Given the description of an element on the screen output the (x, y) to click on. 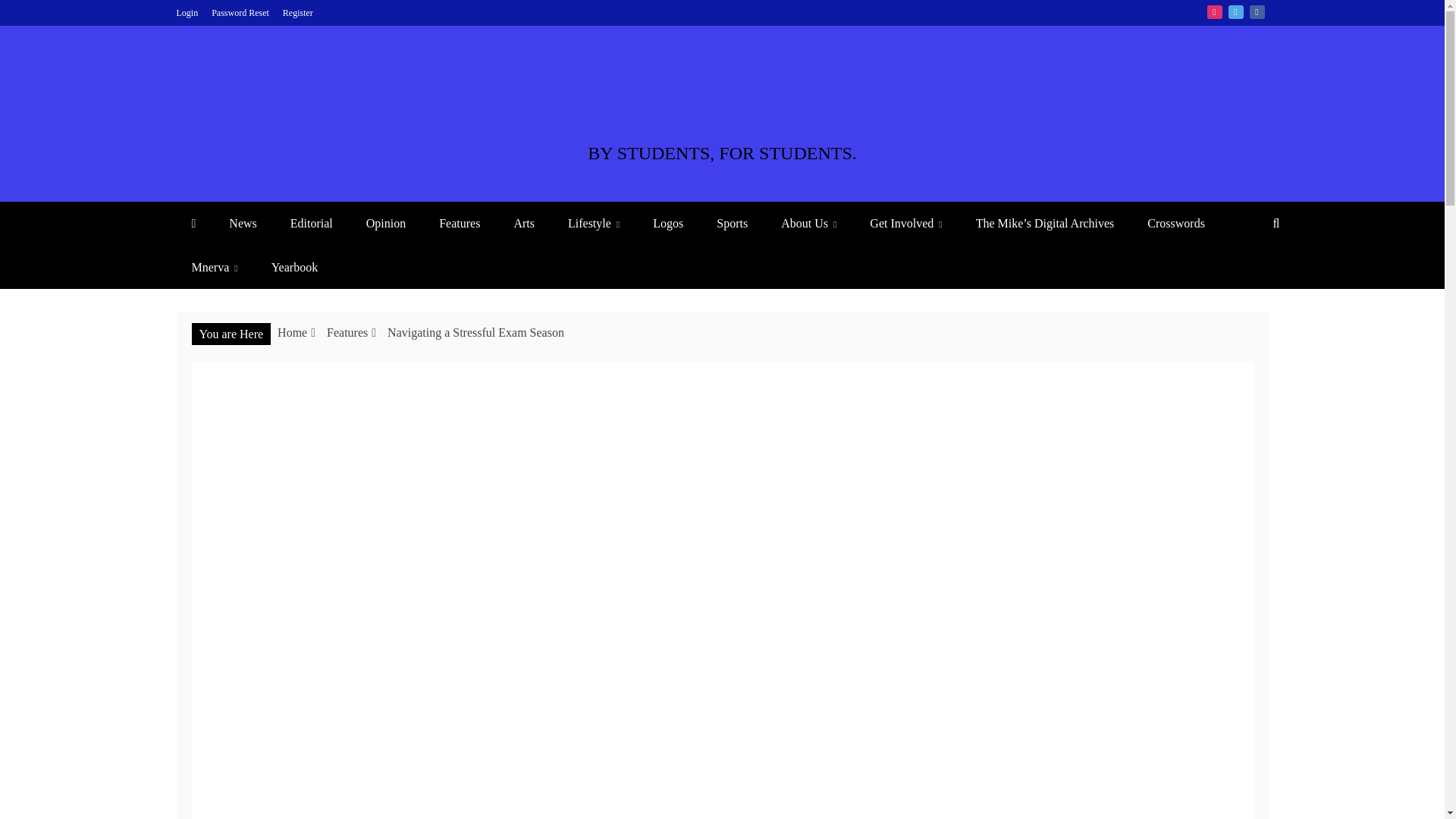
Login (187, 12)
Crosswords (1176, 222)
Logos (667, 222)
Get Involved (905, 222)
Password Reset (240, 12)
Editorial (311, 222)
Twitter (1235, 11)
Sports (731, 222)
About Us (808, 222)
Features (459, 222)
